Given the description of an element on the screen output the (x, y) to click on. 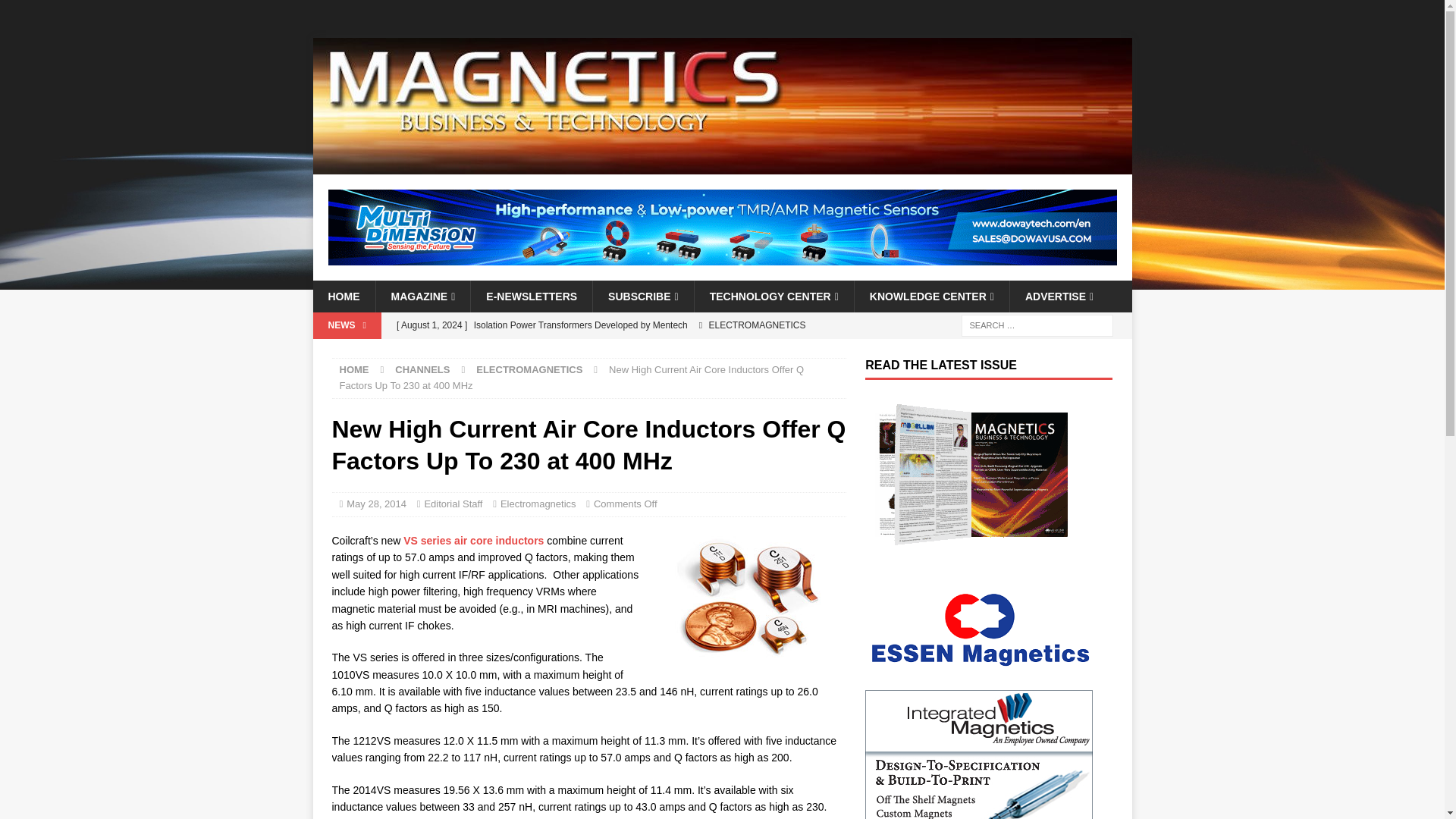
KNOWLEDGE CENTER (931, 296)
Search (56, 11)
TECHNOLOGY CENTER (773, 296)
E-NEWSLETTERS (531, 296)
SUBSCRIBE (643, 296)
ADVERTISE (1058, 296)
HOME (343, 296)
MAGAZINE (422, 296)
Magnetics Magazine (722, 165)
